Given the description of an element on the screen output the (x, y) to click on. 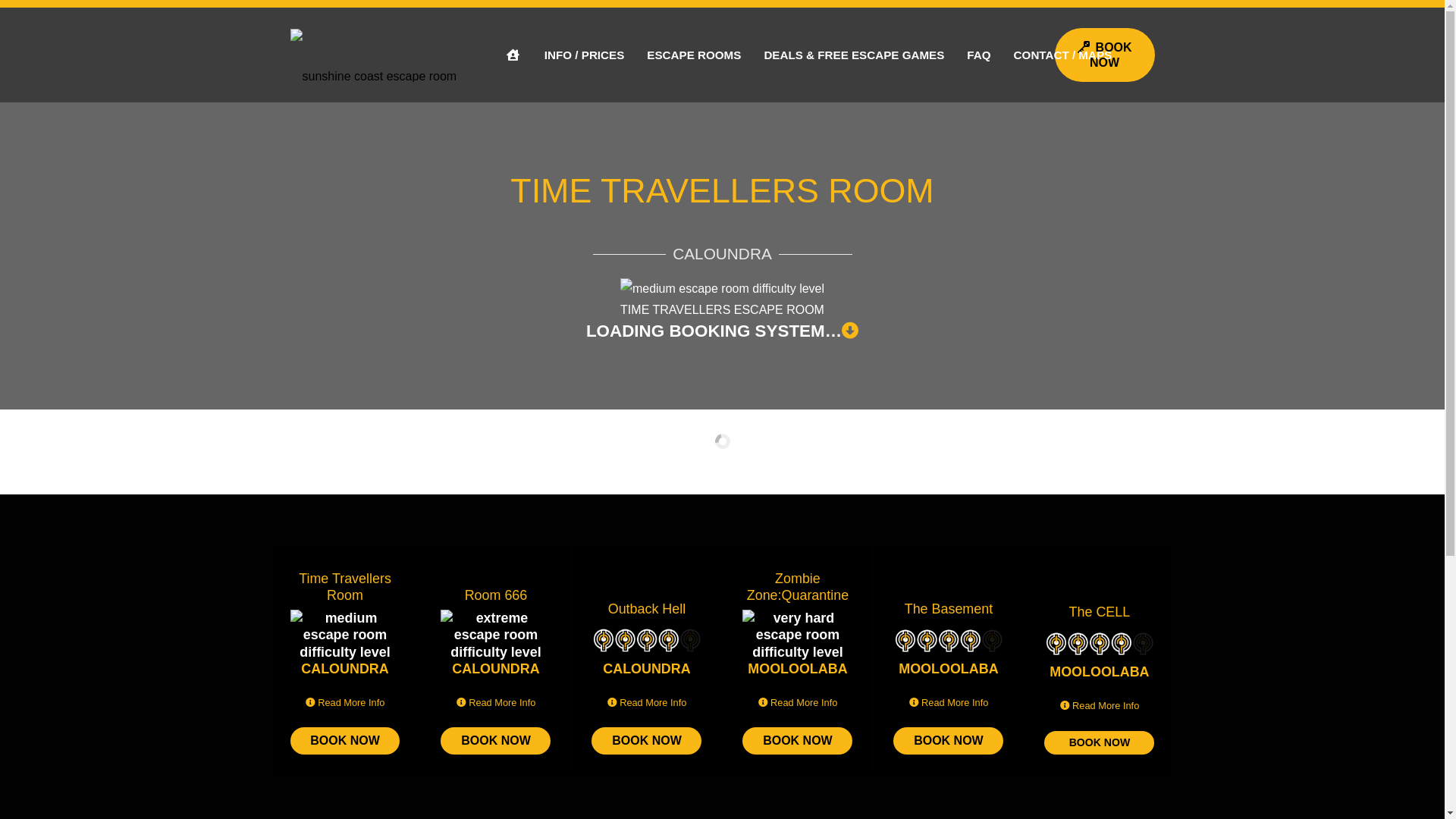
Read More Info Element type: text (345, 702)
MOOLOOLABA Element type: text (947, 669)
BOOK NOW Element type: text (344, 740)
MOOLOOLABA Element type: text (1098, 671)
BOOK NOW Element type: text (646, 740)
DEALS & FREE ESCAPE GAMES Element type: text (853, 55)
CONTACT / MAPS Element type: text (1062, 55)
BOOK NOW Element type: text (797, 740)
Read More Info Element type: text (496, 702)
CALOUNDRA Element type: text (646, 668)
MOOLOOLABA Element type: text (797, 668)
CALOUNDRA Element type: text (495, 668)
Read More Info Element type: text (797, 702)
ESCAPE ROOMS Element type: text (693, 55)
Read More Info Element type: text (1099, 705)
FAQ Element type: text (978, 55)
Read More Info Element type: text (647, 702)
BOOK NOW Element type: text (1104, 54)
BOOK NOW Element type: text (495, 740)
CALOUNDRA Element type: text (344, 668)
INFO / PRICES Element type: text (584, 55)
BOOK NOW Element type: text (948, 740)
BOOK NOW Element type: text (1099, 742)
Read More Info Element type: text (948, 702)
